Given the description of an element on the screen output the (x, y) to click on. 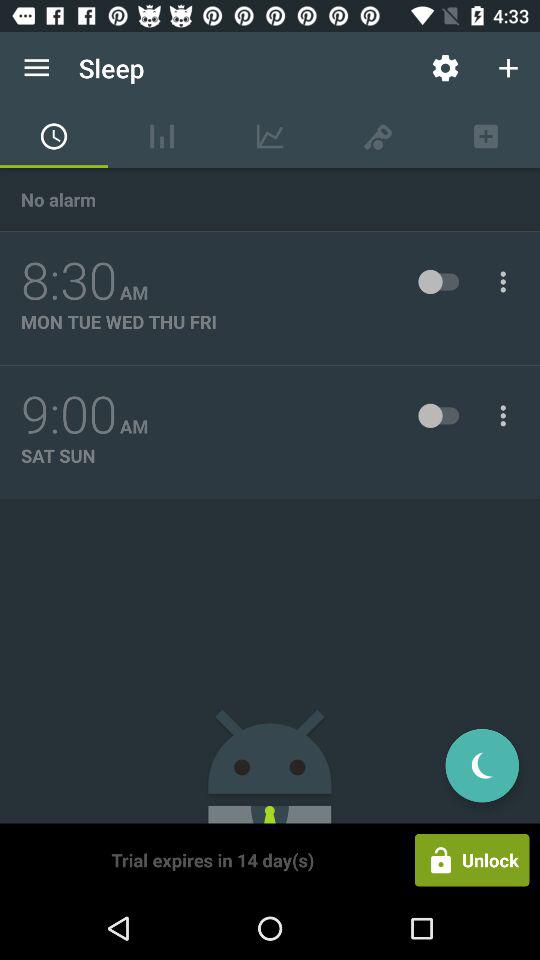
turn on 9:00 icon (69, 415)
